Given the description of an element on the screen output the (x, y) to click on. 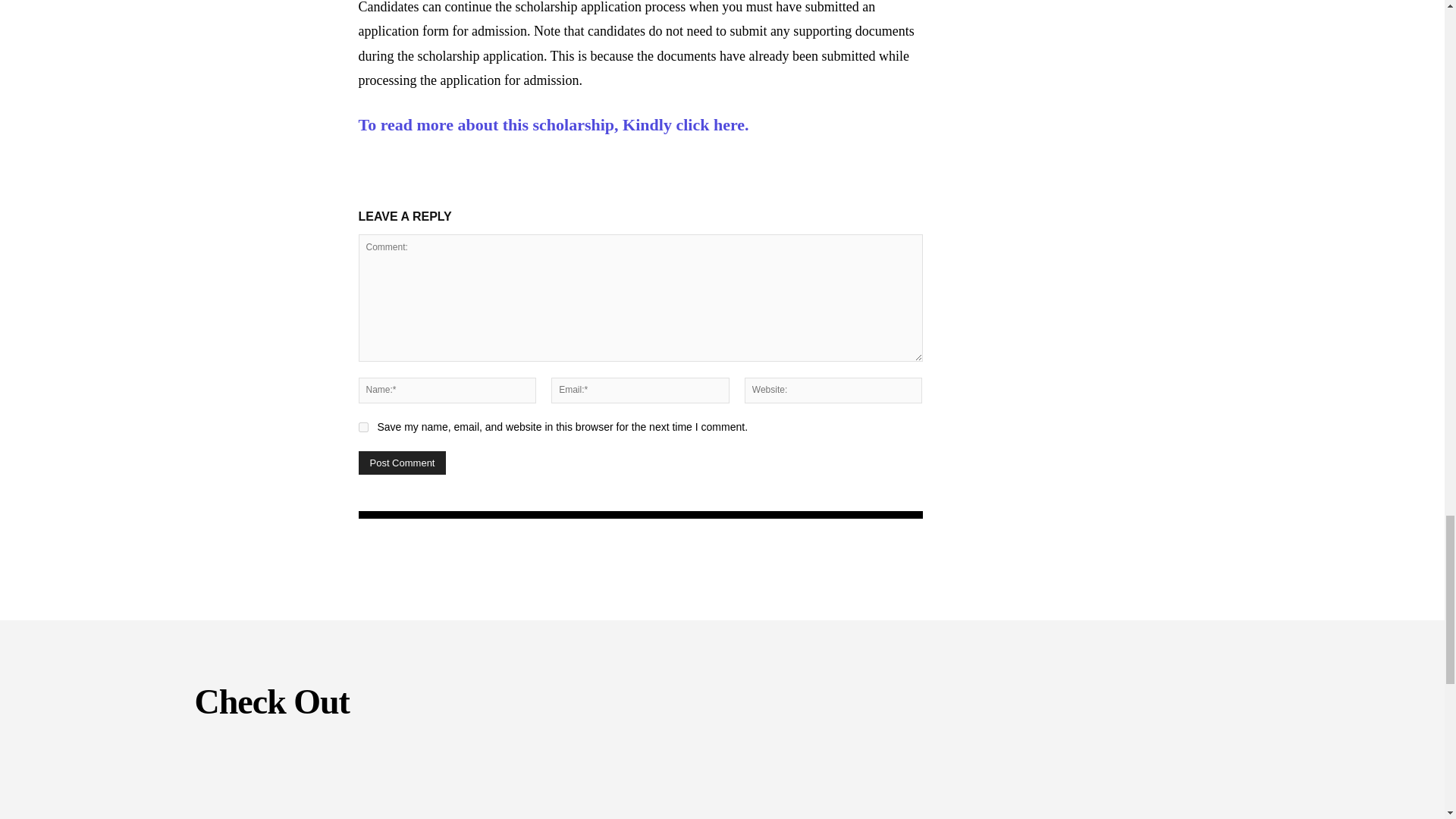
Post Comment (401, 463)
To read more about this scholarship, Kindly click here. (553, 124)
Post Comment (401, 463)
yes (363, 427)
